Given the description of an element on the screen output the (x, y) to click on. 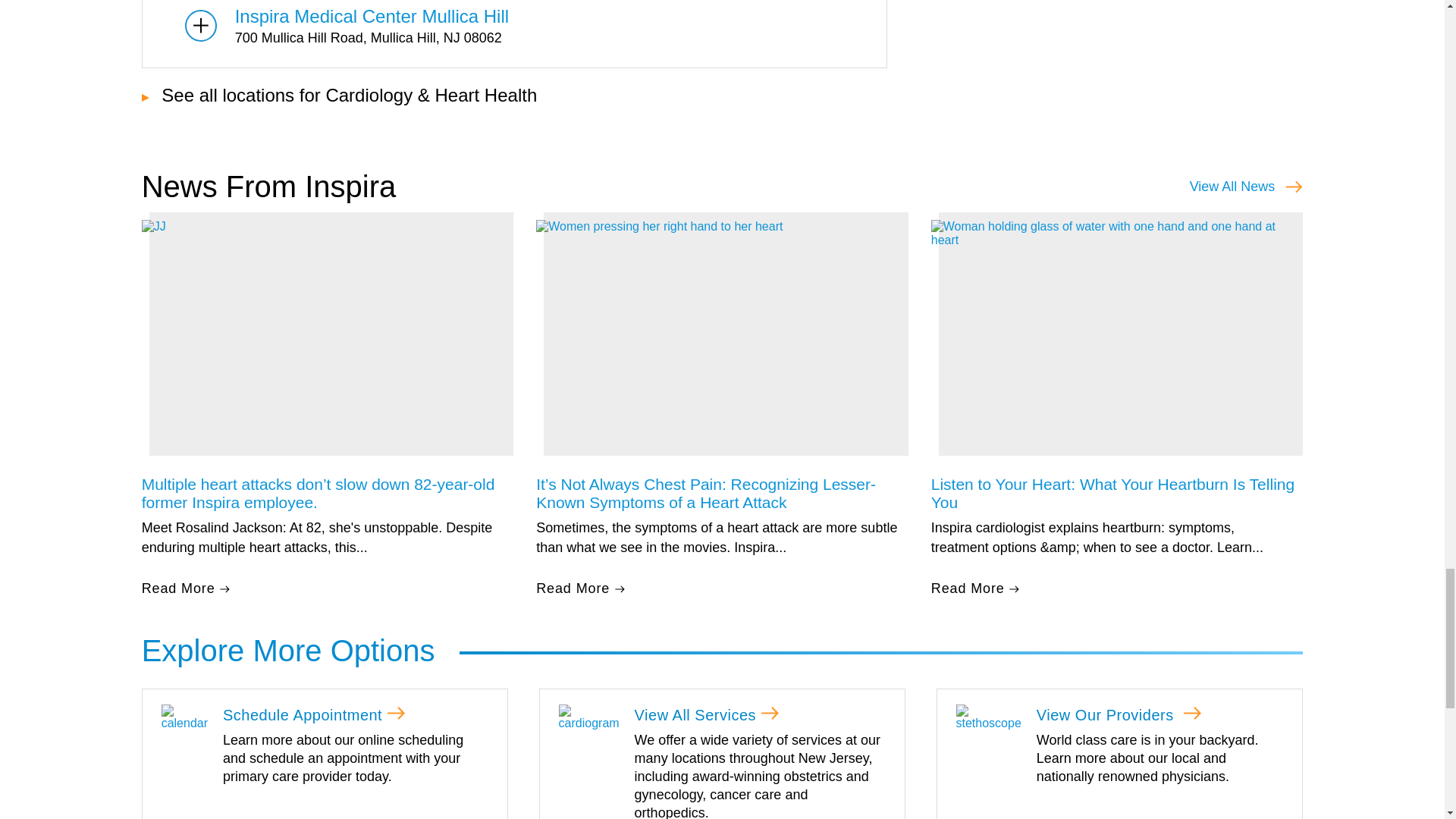
Schedule Appointment (184, 717)
View Our Providers  (987, 717)
View All Services (589, 717)
